Given the description of an element on the screen output the (x, y) to click on. 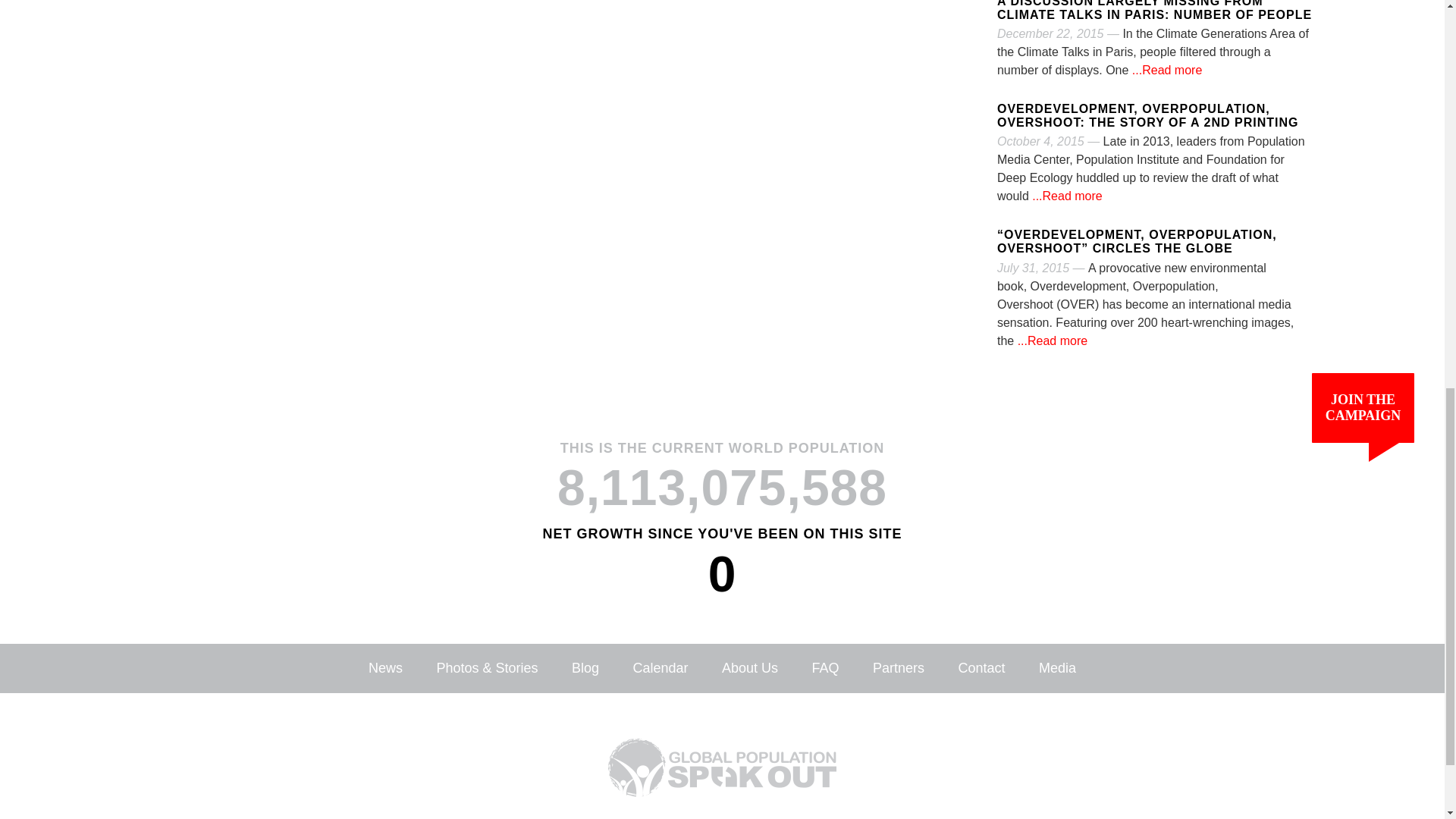
...Read more (1065, 195)
Media (1057, 667)
About Us (749, 667)
News (385, 667)
Calendar (659, 667)
Contact (981, 667)
...Read more (1165, 69)
...Read more (1050, 340)
FAQ (824, 667)
Blog (585, 667)
Partners (898, 667)
